Given the description of an element on the screen output the (x, y) to click on. 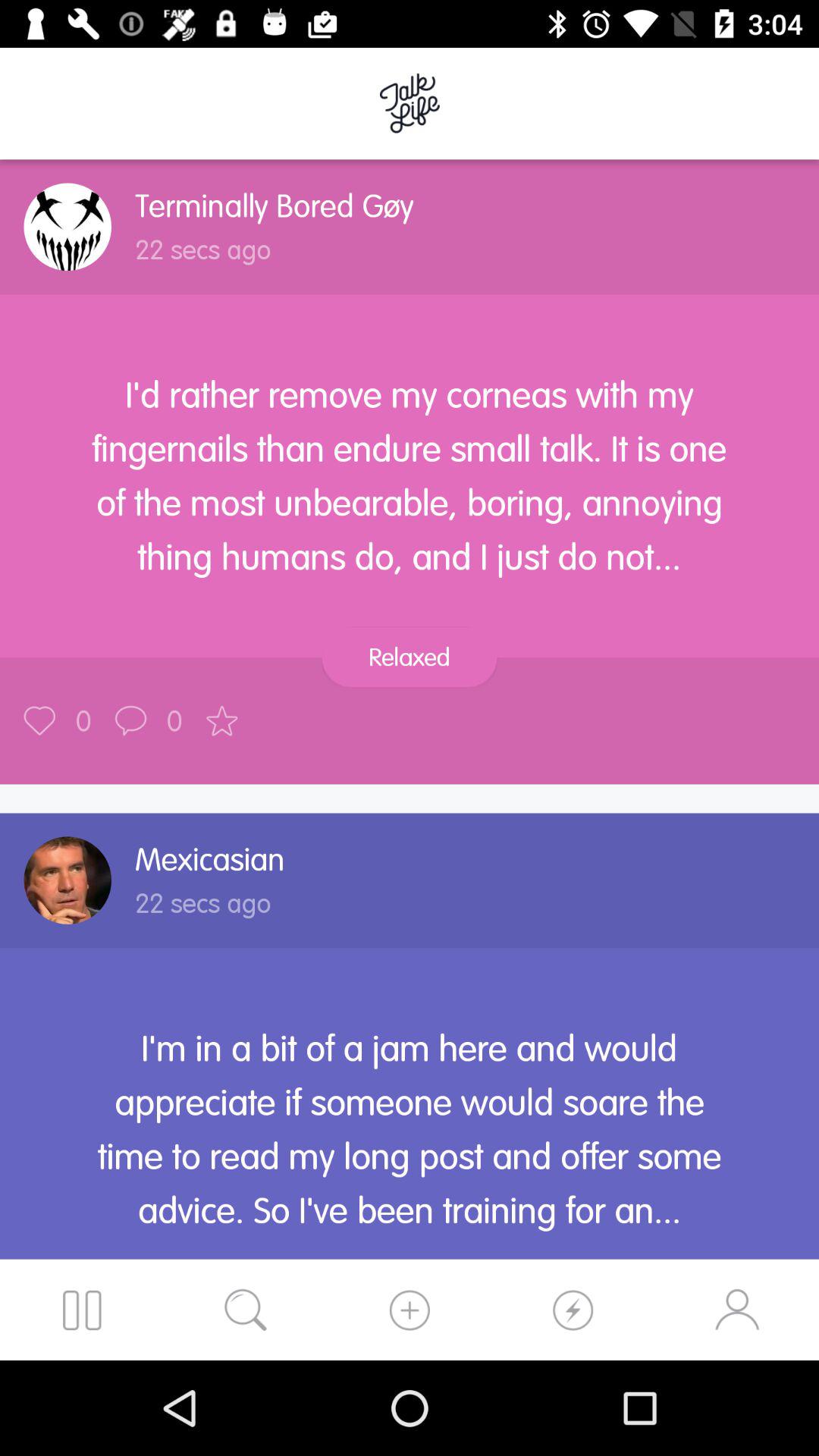
favorite the post (221, 720)
